Given the description of an element on the screen output the (x, y) to click on. 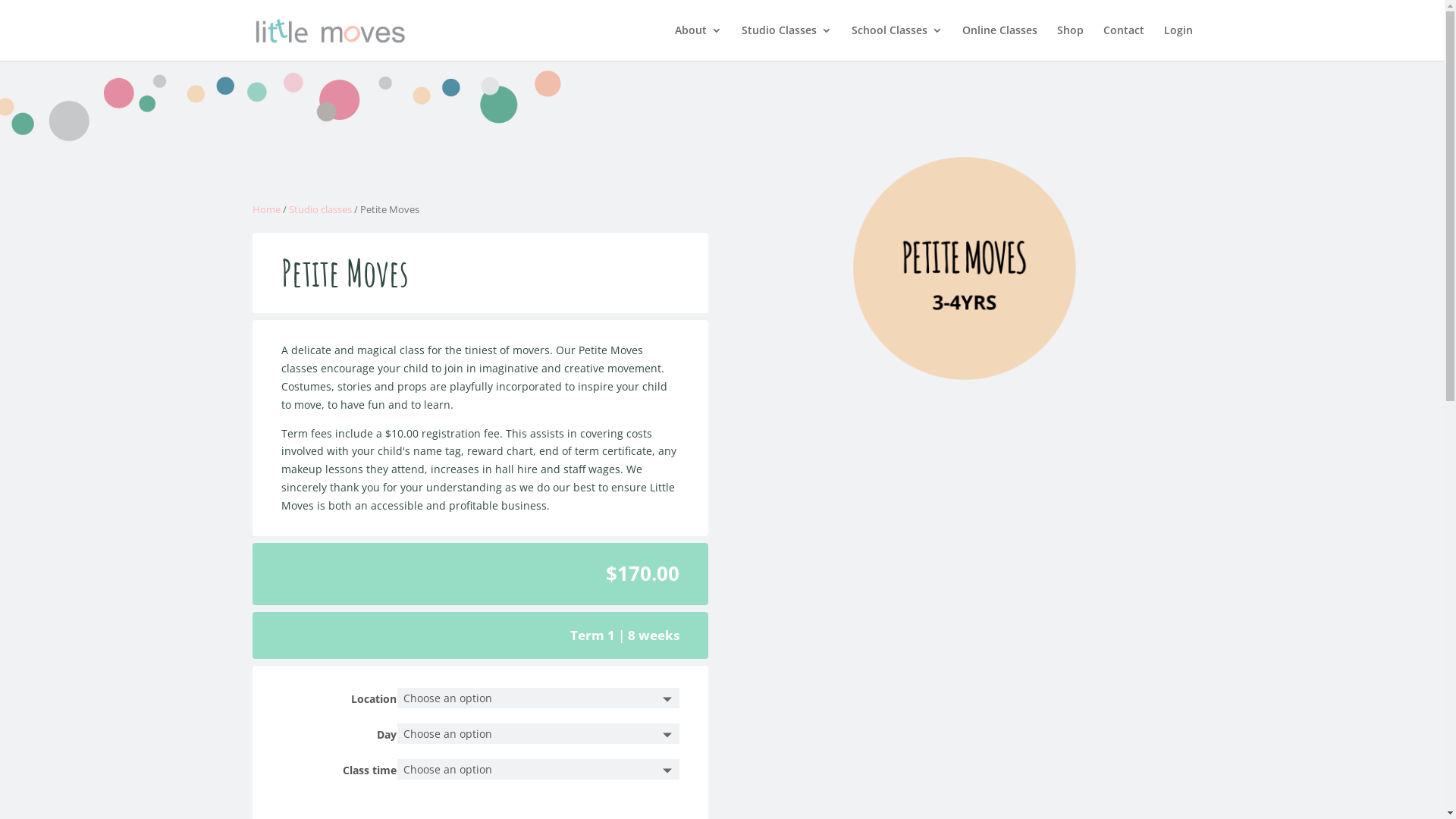
School Classes Element type: text (895, 42)
Studio Classes Element type: text (786, 42)
About Element type: text (697, 42)
Contact Element type: text (1122, 42)
Home Element type: text (265, 209)
Shop Element type: text (1070, 42)
LM_Class_Petite Moves Element type: hover (964, 267)
Studio classes Element type: text (319, 209)
Login Element type: text (1177, 42)
Online Classes Element type: text (998, 42)
